Given the description of an element on the screen output the (x, y) to click on. 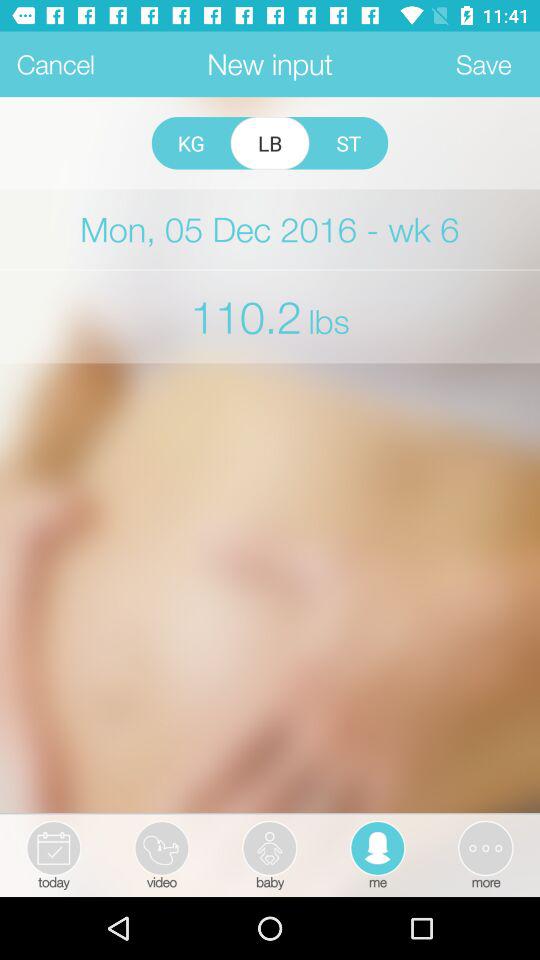
launch lb icon (269, 143)
